Given the description of an element on the screen output the (x, y) to click on. 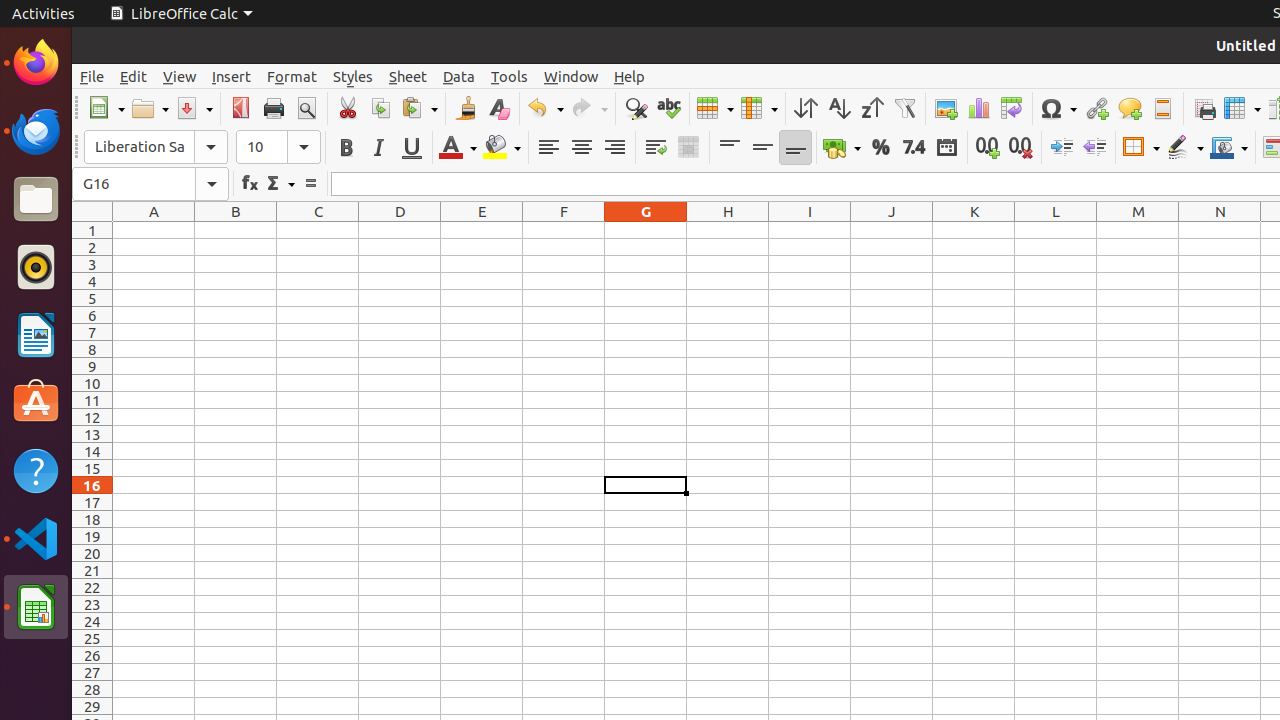
Freeze Rows and Columns Element type: push-button (1242, 108)
Clone Element type: push-button (465, 108)
Image Element type: push-button (945, 108)
G1 Element type: table-cell (646, 230)
Sort Element type: push-button (805, 108)
